Given the description of an element on the screen output the (x, y) to click on. 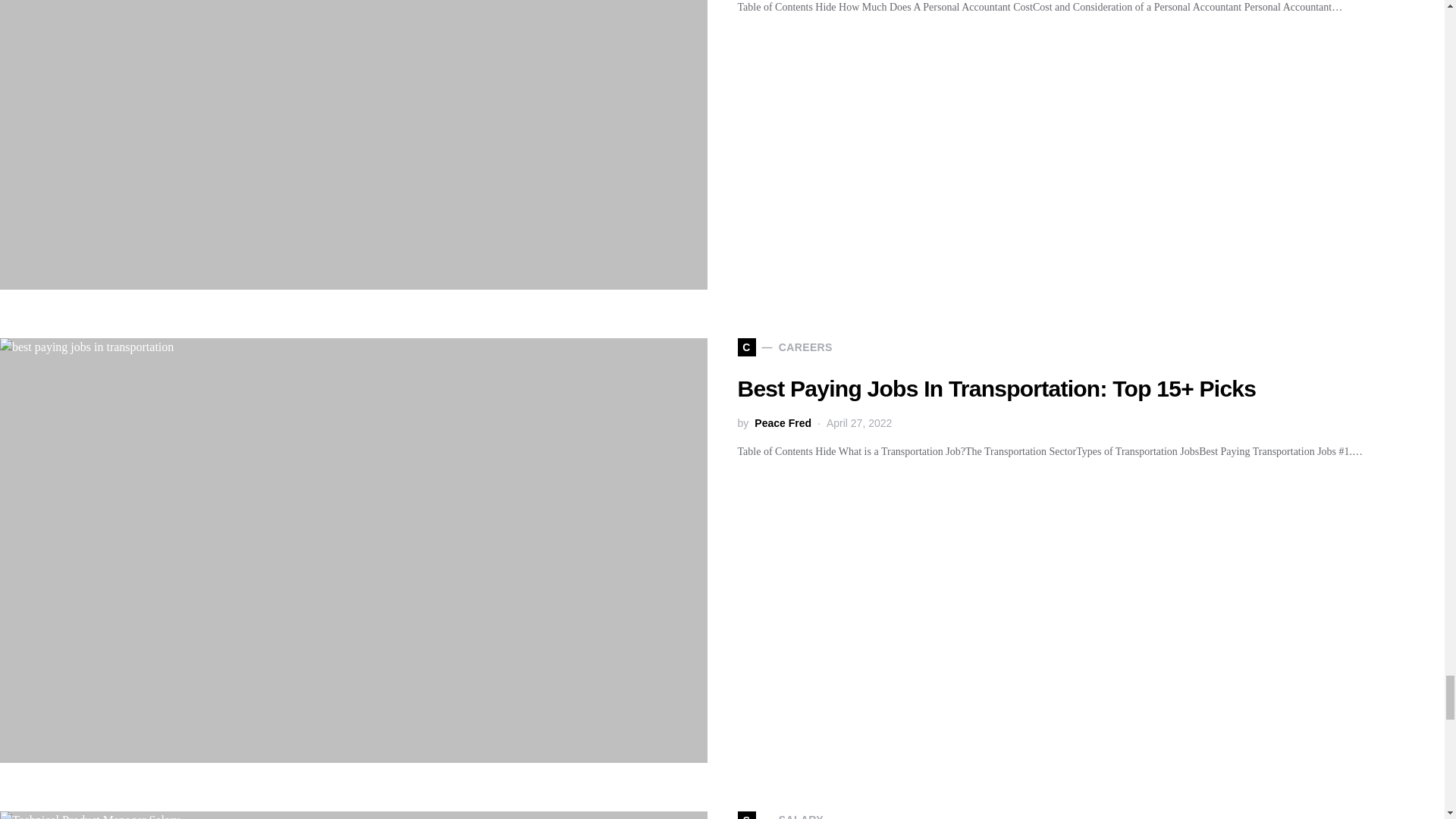
View all posts by Peace Fred (782, 423)
